Given the description of an element on the screen output the (x, y) to click on. 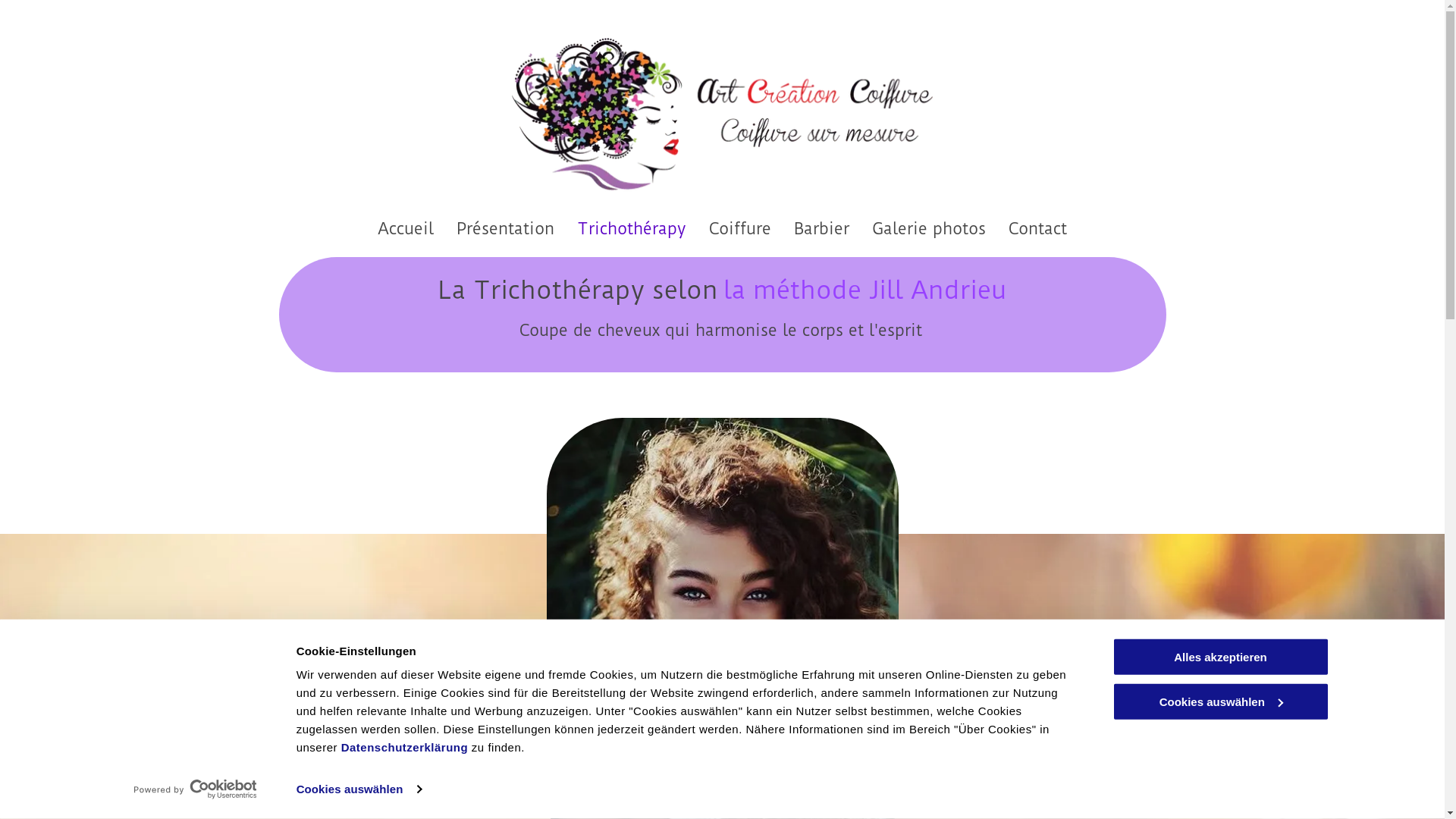
Barbier Element type: text (821, 228)
Galerie photos Element type: text (928, 228)
Coiffure Element type: text (739, 228)
Contact Element type: text (1037, 228)
Accueil Element type: text (405, 228)
Alles akzeptieren Element type: text (1219, 656)
